Given the description of an element on the screen output the (x, y) to click on. 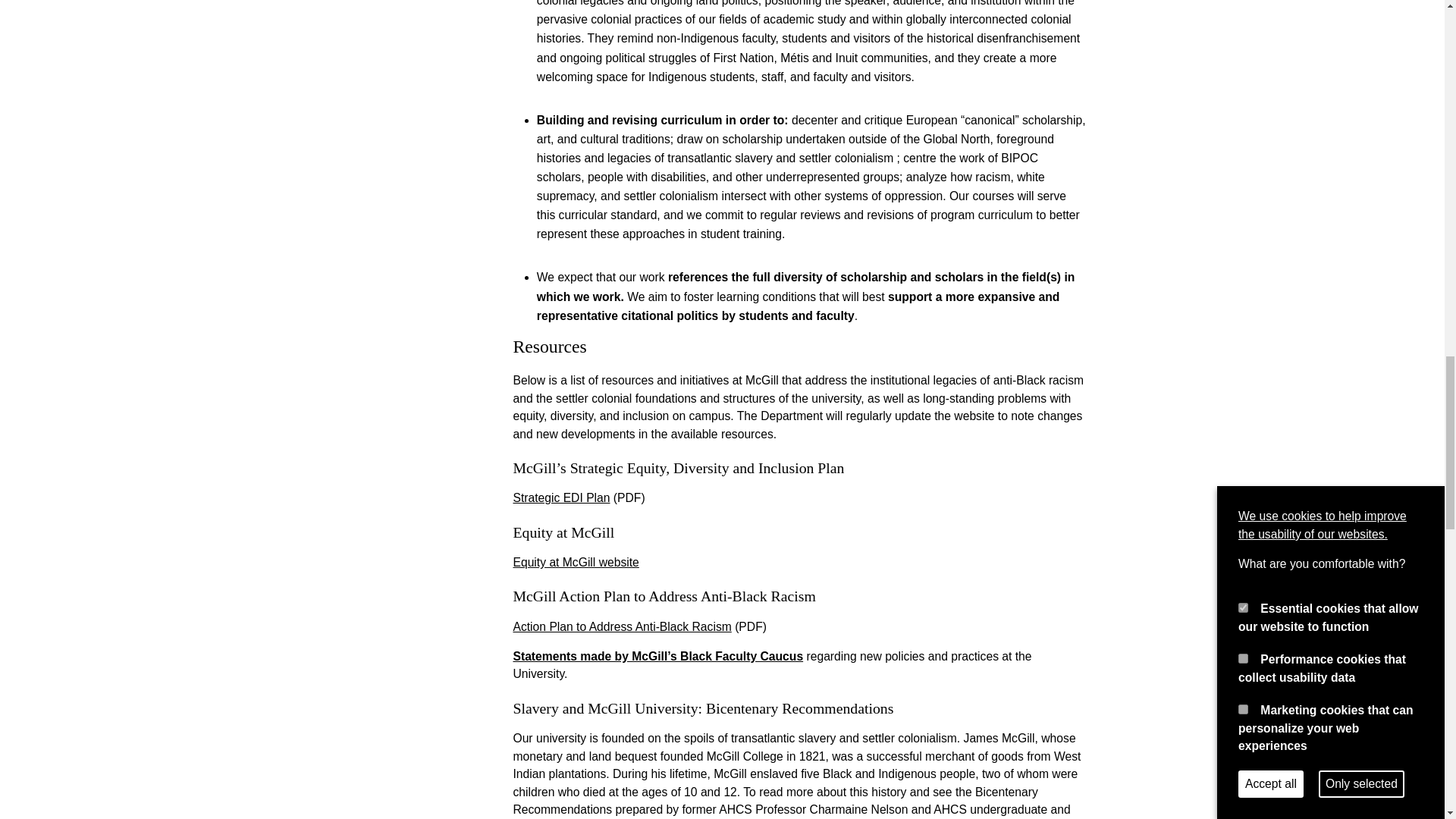
Equity at McGill website (575, 562)
Strategic EDI Plan (561, 497)
Action Plan to Address Anti-Black Racism (621, 626)
